Given the description of an element on the screen output the (x, y) to click on. 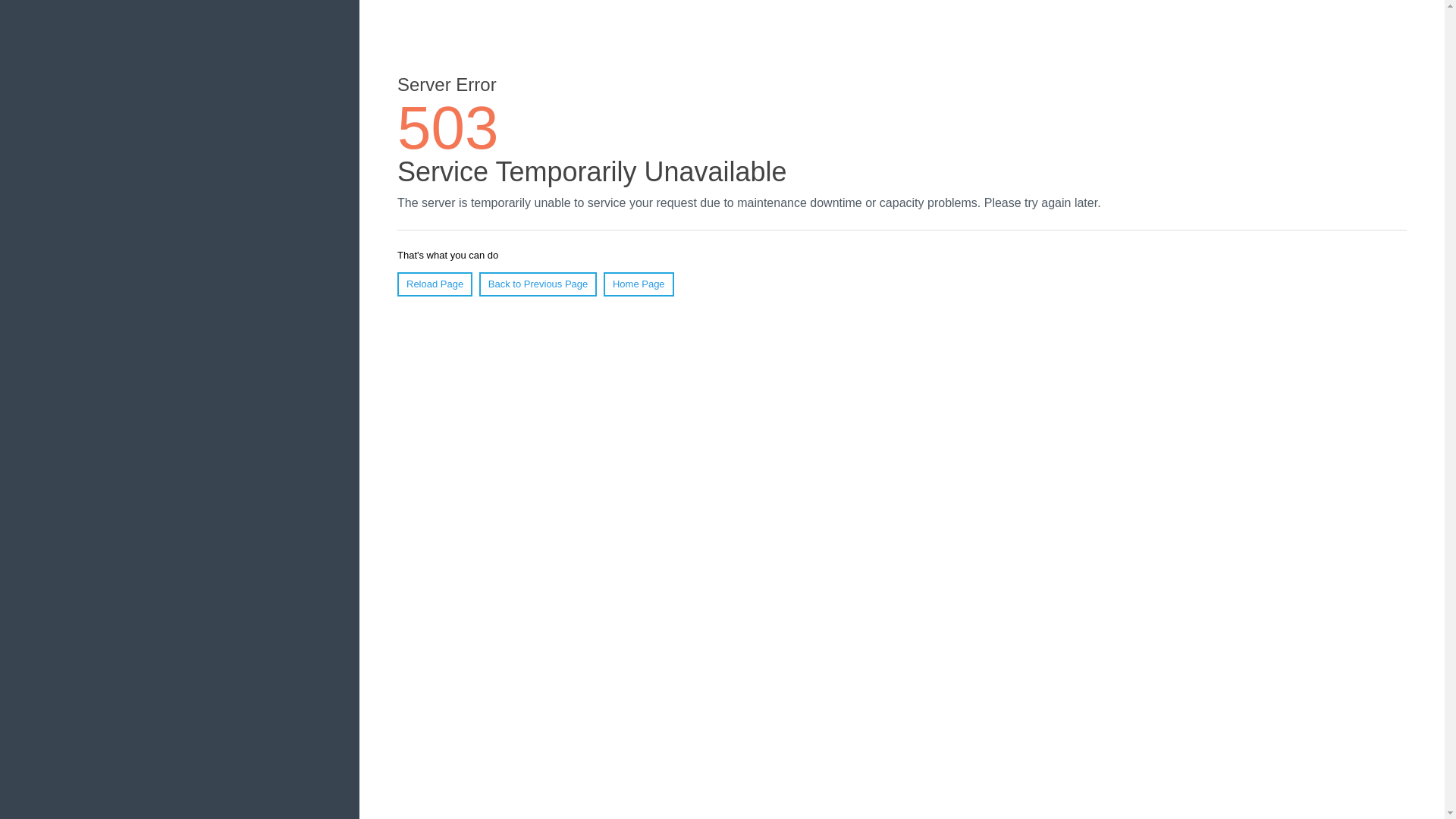
Reload Page (434, 283)
Home Page (639, 283)
Back to Previous Page (537, 283)
